Given the description of an element on the screen output the (x, y) to click on. 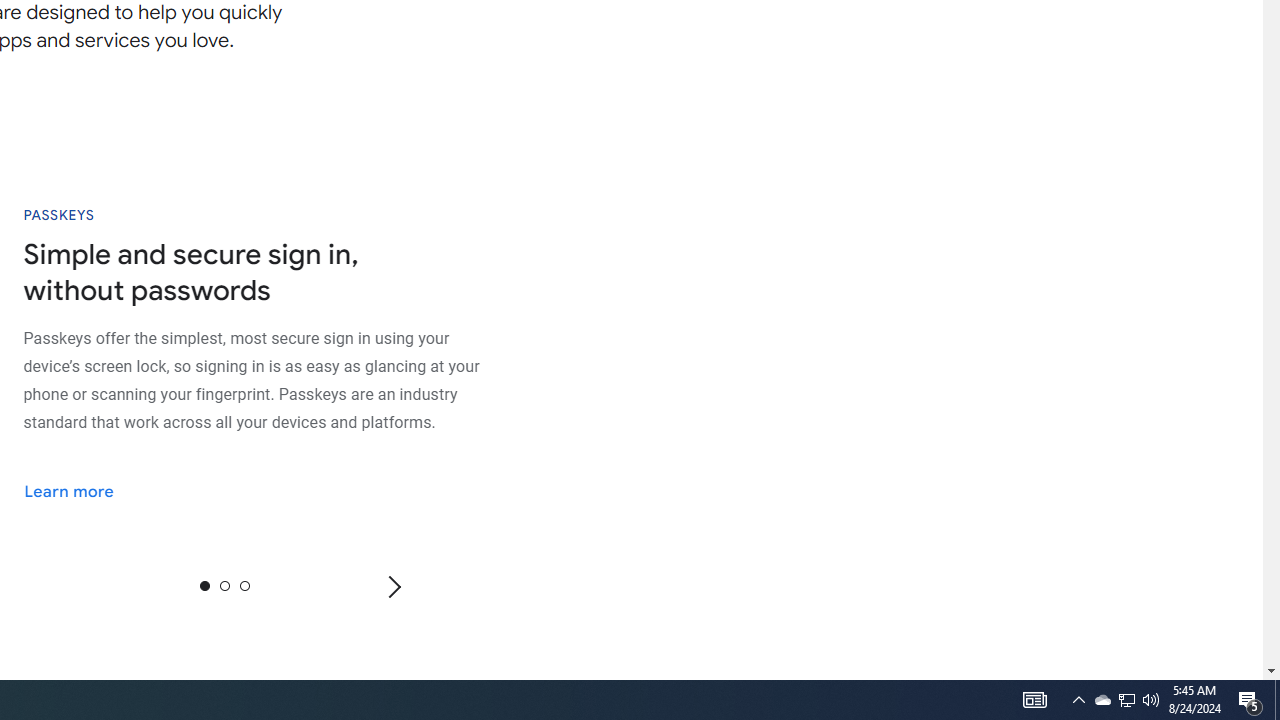
AutomationID: passkeys-module-1 (275, 379)
2 (243, 585)
0 (204, 585)
1 (224, 585)
Learn more (82, 489)
